Given the description of an element on the screen output the (x, y) to click on. 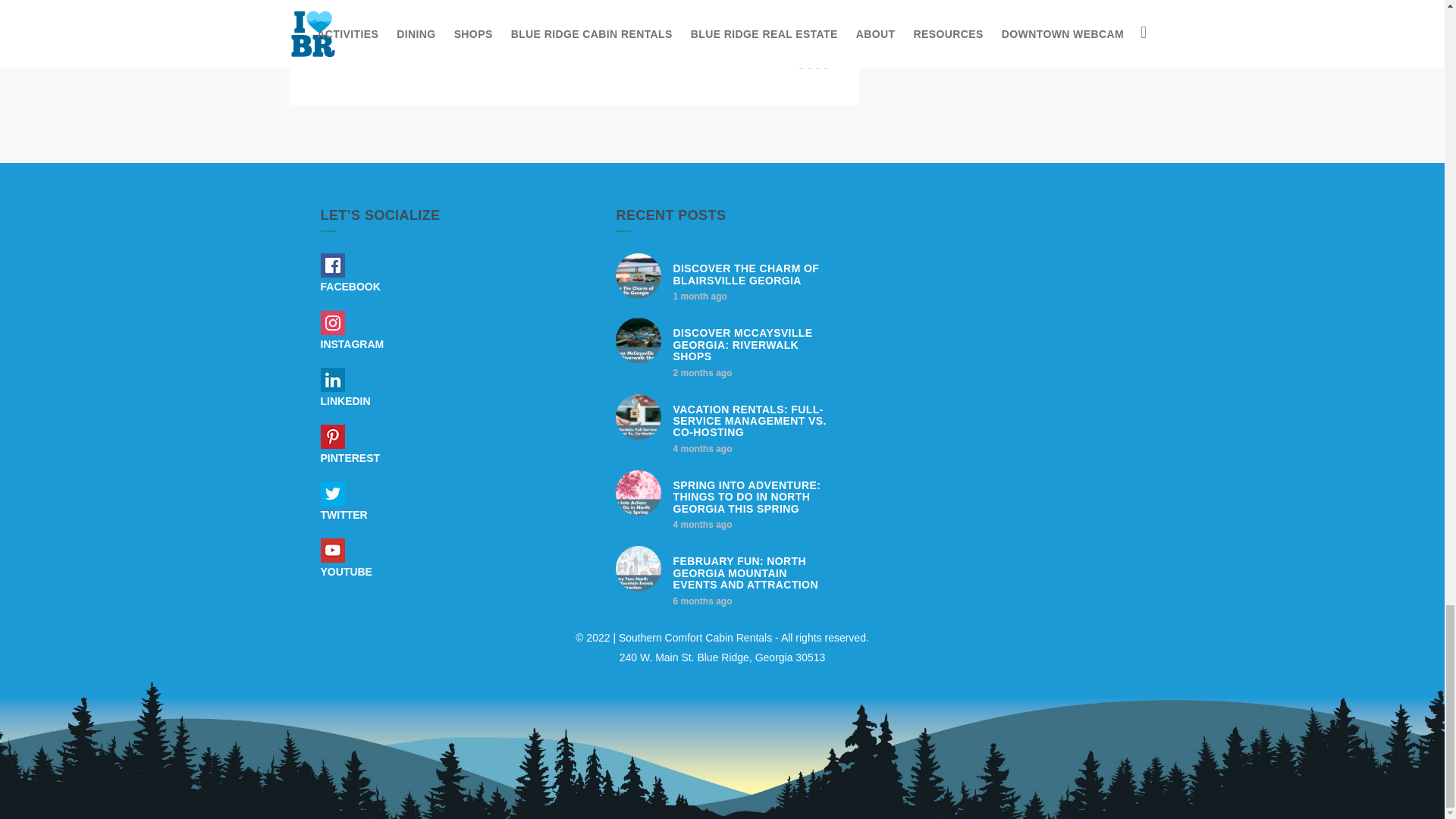
Instagram (331, 322)
Facebook (331, 265)
